Given the description of an element on the screen output the (x, y) to click on. 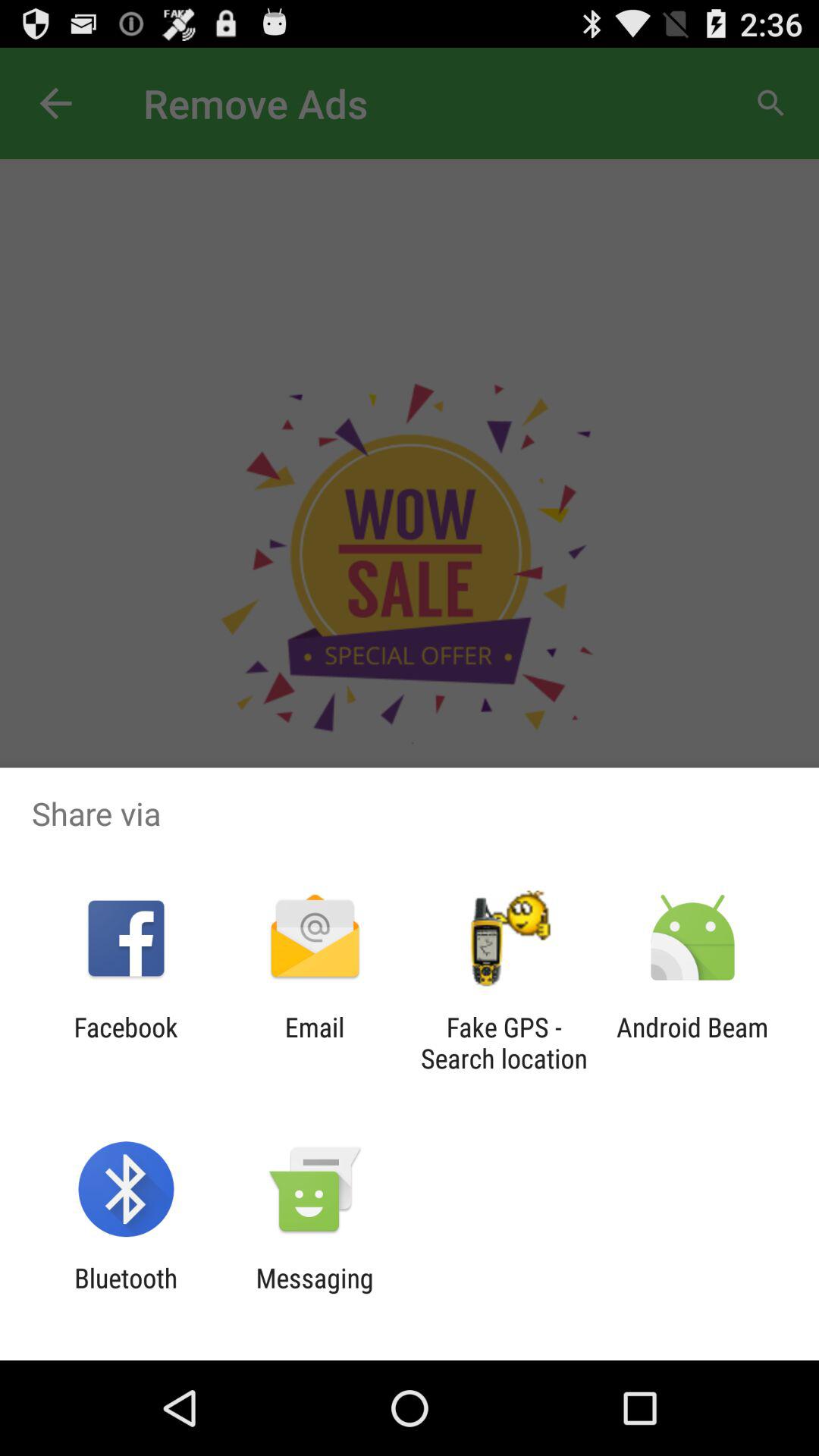
flip to android beam (692, 1042)
